Given the description of an element on the screen output the (x, y) to click on. 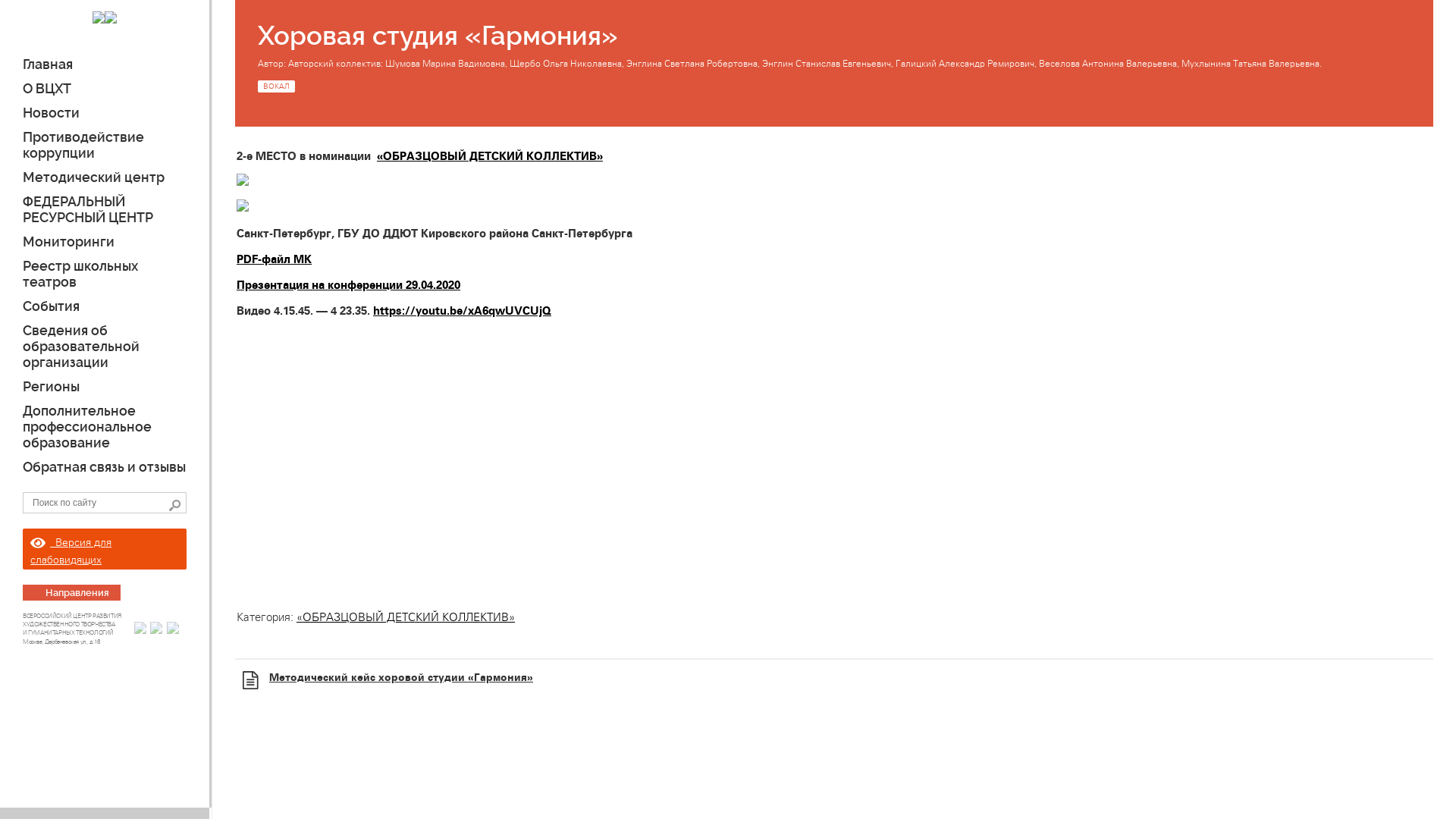
8 Element type: text (174, 504)
https://youtu.be/xA6qwUVCUjQ Element type: text (462, 310)
